Given the description of an element on the screen output the (x, y) to click on. 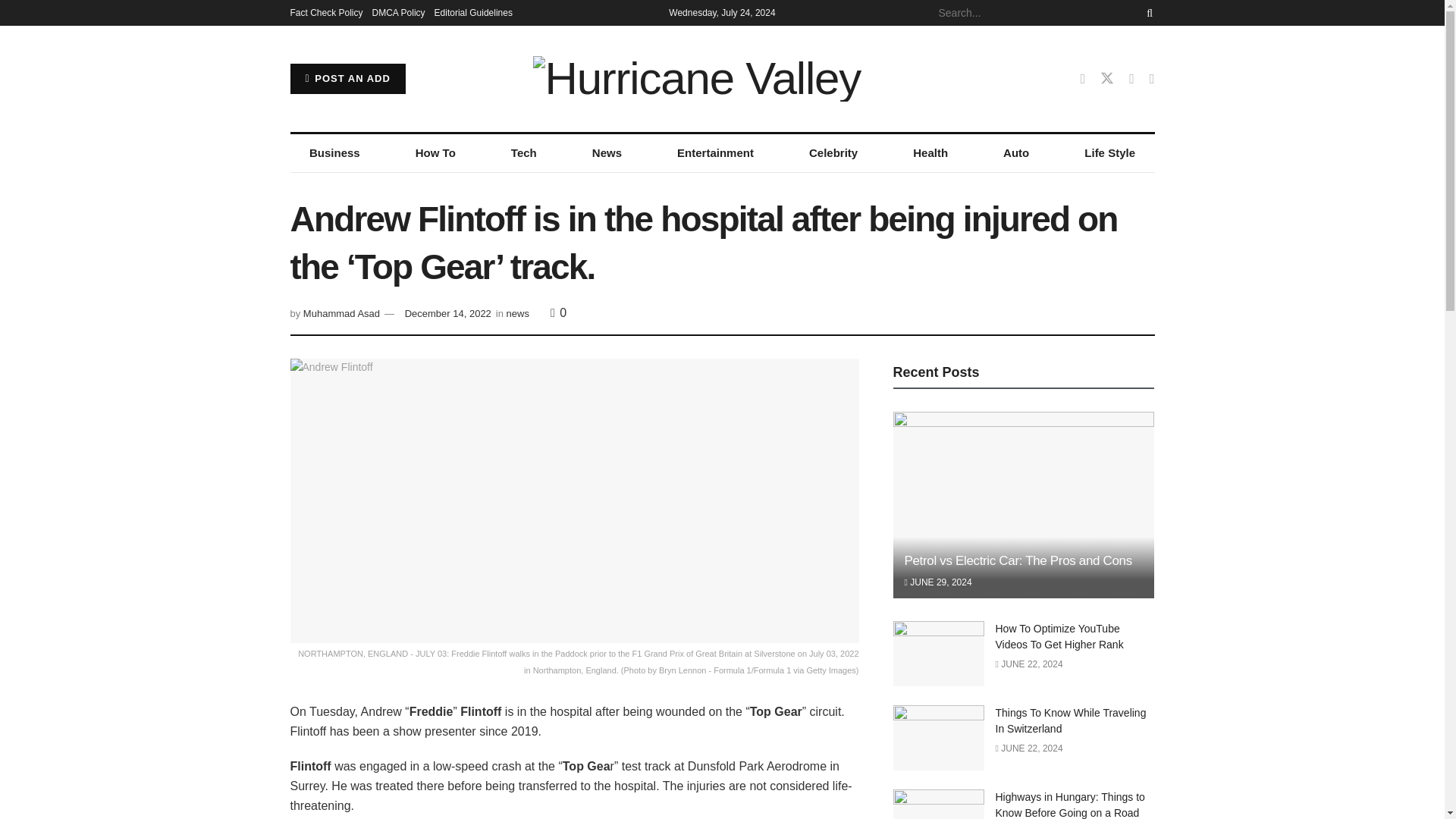
Tech (524, 152)
Celebrity (832, 152)
Muhammad Asad (341, 313)
DMCA Policy (398, 12)
Fact Check Policy (325, 12)
How To (435, 152)
news (517, 313)
0 (558, 312)
December 14, 2022 (448, 313)
Entertainment (715, 152)
Business (333, 152)
Life Style (1109, 152)
Auto (1016, 152)
Editorial Guidelines (472, 12)
Health (930, 152)
